Given the description of an element on the screen output the (x, y) to click on. 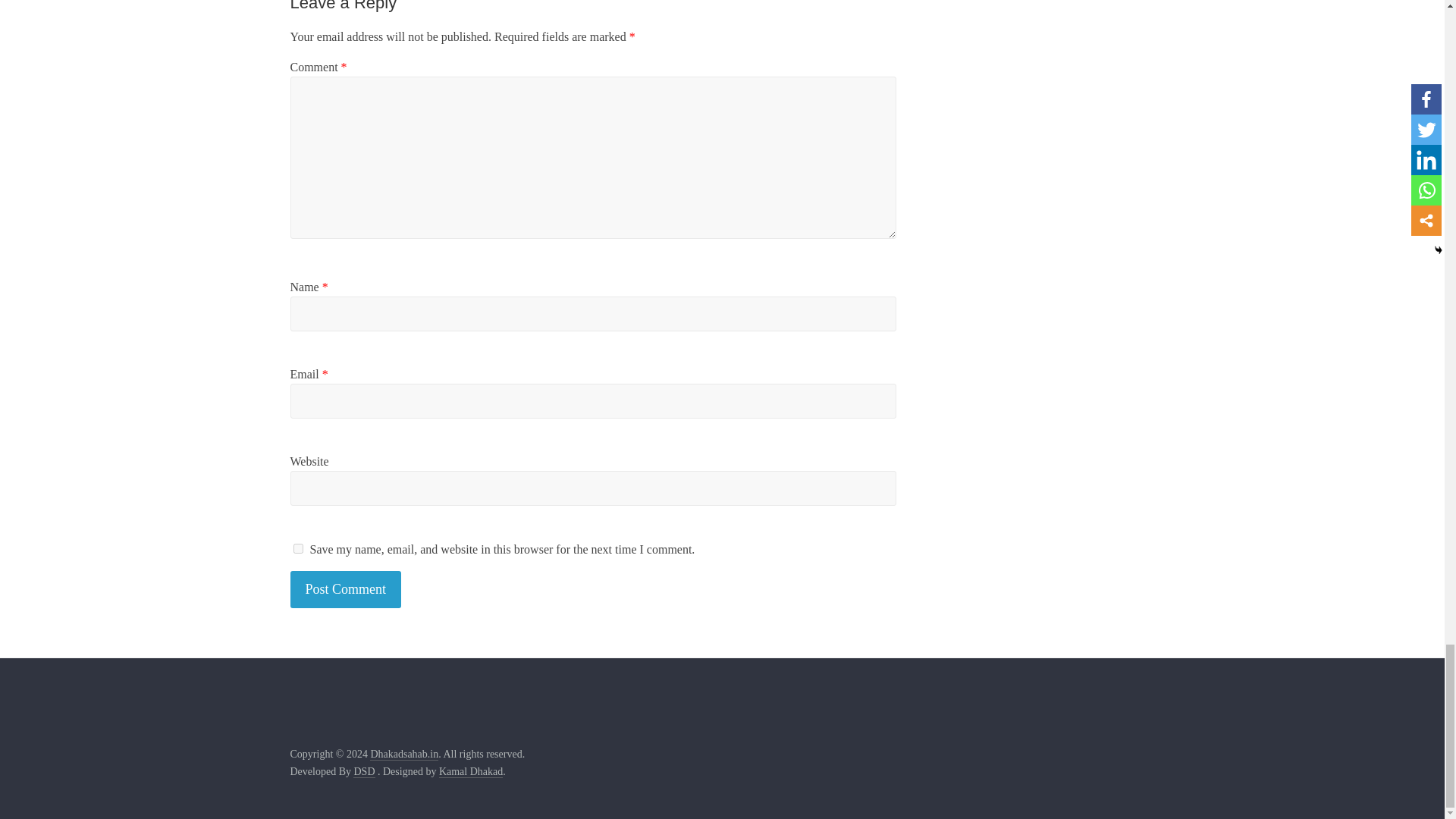
yes (297, 548)
Post Comment (345, 589)
